Given the description of an element on the screen output the (x, y) to click on. 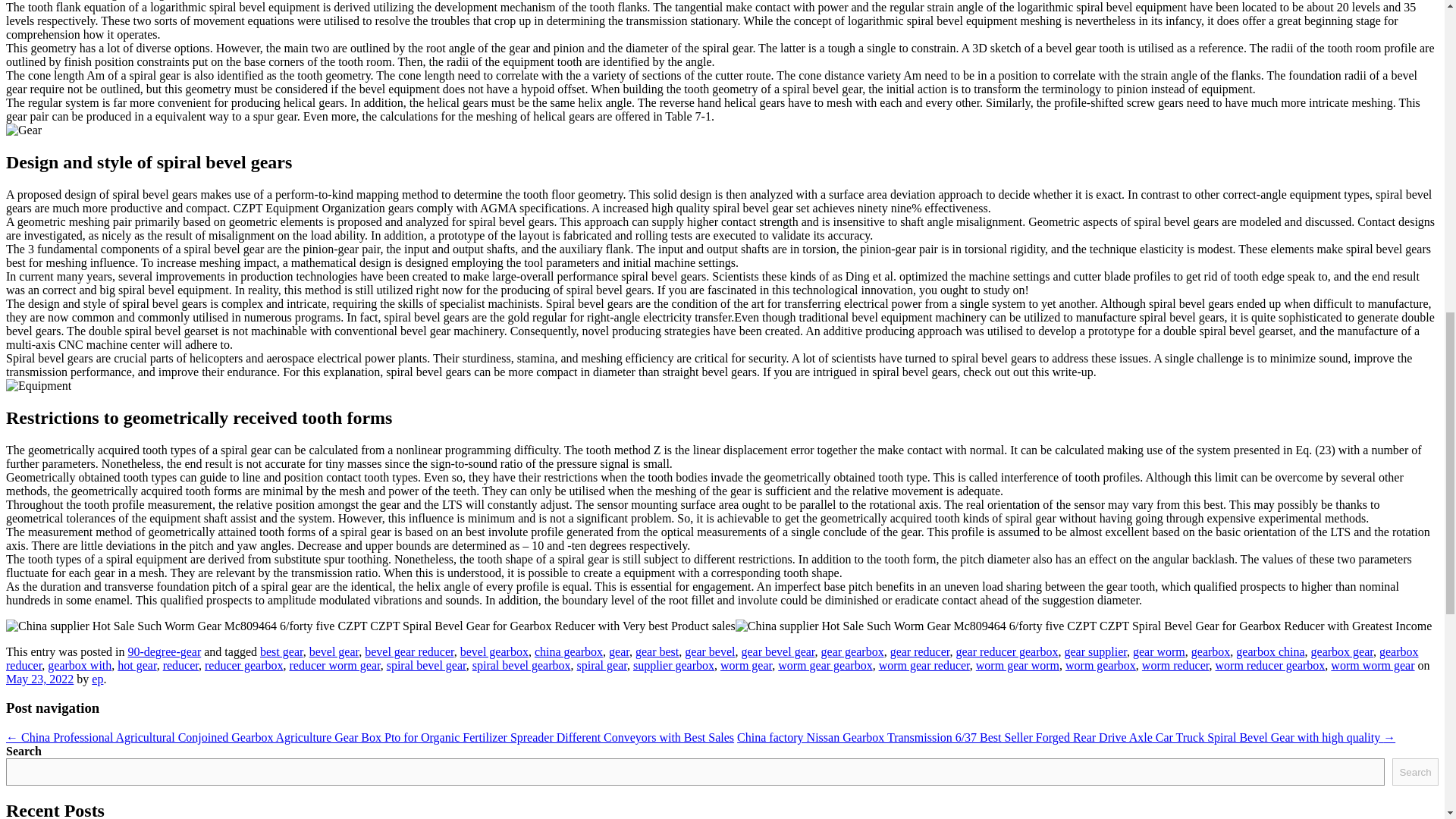
gear reducer (919, 651)
gear best (656, 651)
gearbox reducer (711, 658)
bevel gear (333, 651)
gear bevel gear (777, 651)
gearbox gear (1342, 651)
bevel gearbox (494, 651)
gearbox (1210, 651)
worm reducer (1175, 665)
bevel gear reducer (409, 651)
worm gear worm (1017, 665)
spiral bevel gearbox (520, 665)
worm reducer gearbox (1269, 665)
hot gear (136, 665)
best gear (281, 651)
